Given the description of an element on the screen output the (x, y) to click on. 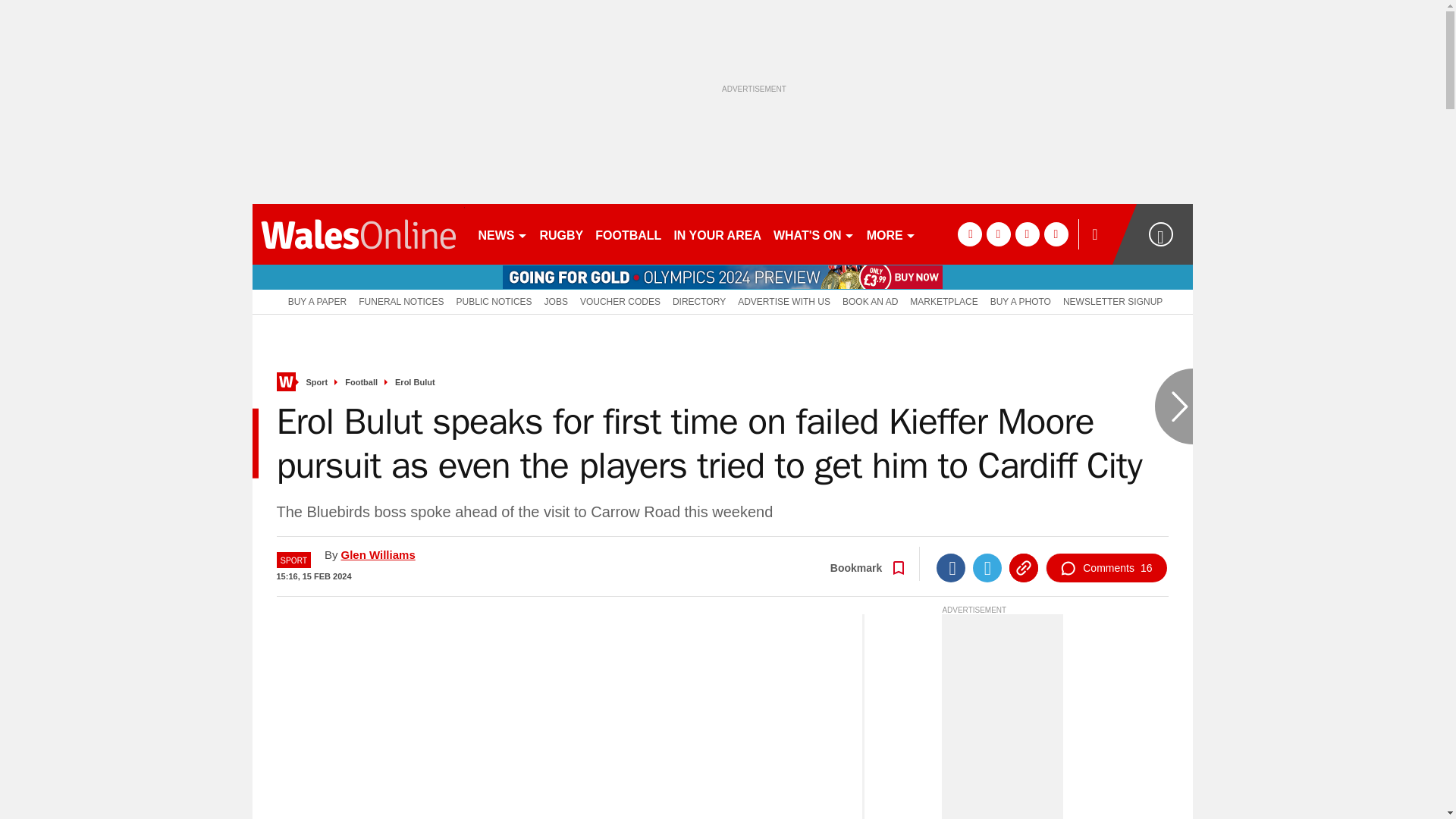
facebook (968, 233)
pinterest (1026, 233)
Facebook (950, 567)
walesonline (357, 233)
NEWS (501, 233)
twitter (997, 233)
WHAT'S ON (813, 233)
Comments (1105, 567)
instagram (1055, 233)
FOOTBALL (627, 233)
RUGBY (561, 233)
IN YOUR AREA (716, 233)
MORE (890, 233)
